Given the description of an element on the screen output the (x, y) to click on. 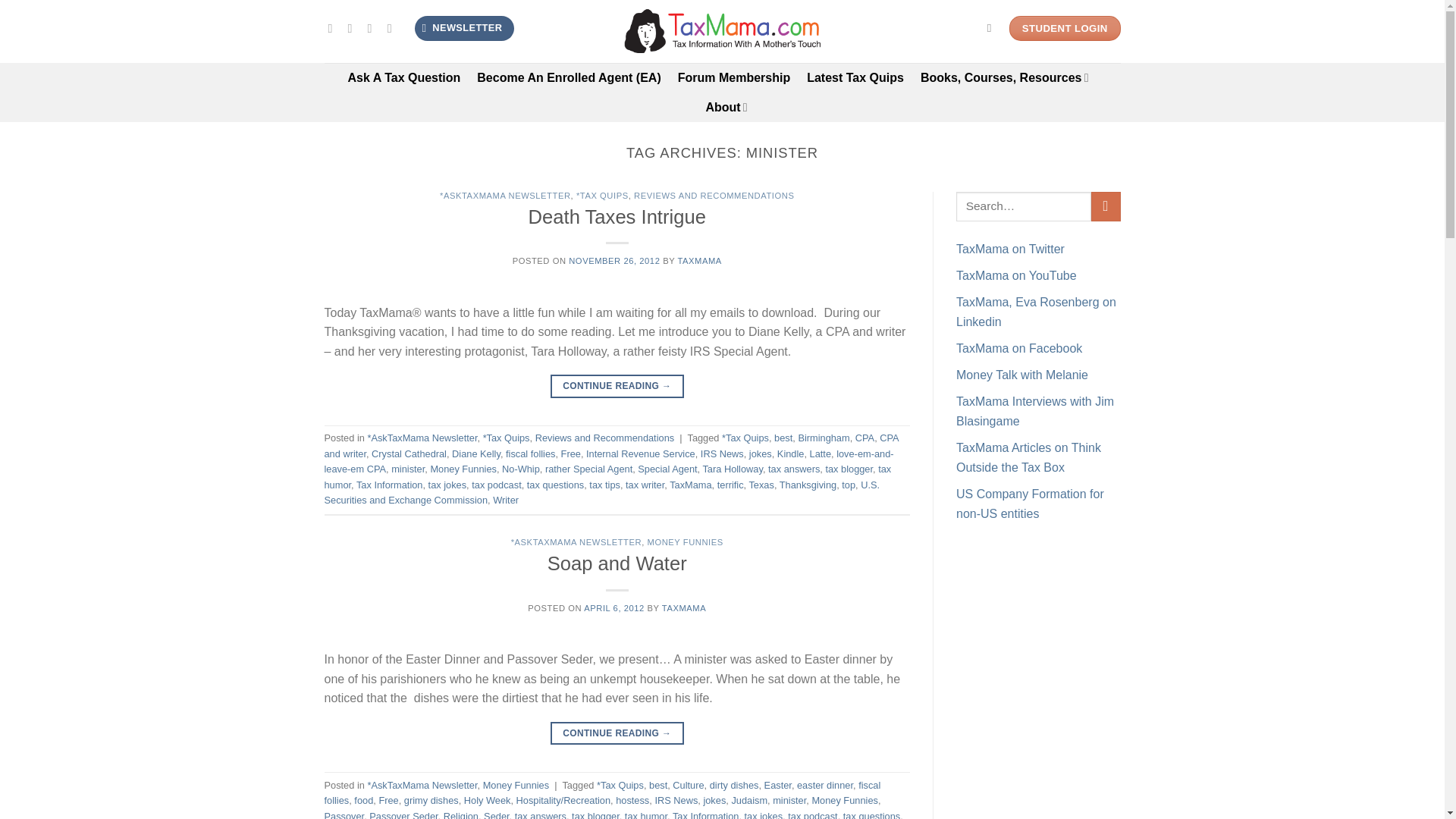
Ask A Tax Question (404, 77)
Sign up for Our Newsletter (463, 27)
CPA (865, 437)
REVIEWS AND RECOMMENDATIONS (713, 194)
About (725, 107)
best (783, 437)
STUDENT LOGIN (1065, 28)
Reviews and Recommendations (605, 437)
Forum Membership (734, 77)
Latest Tax Quips (855, 77)
